Given the description of an element on the screen output the (x, y) to click on. 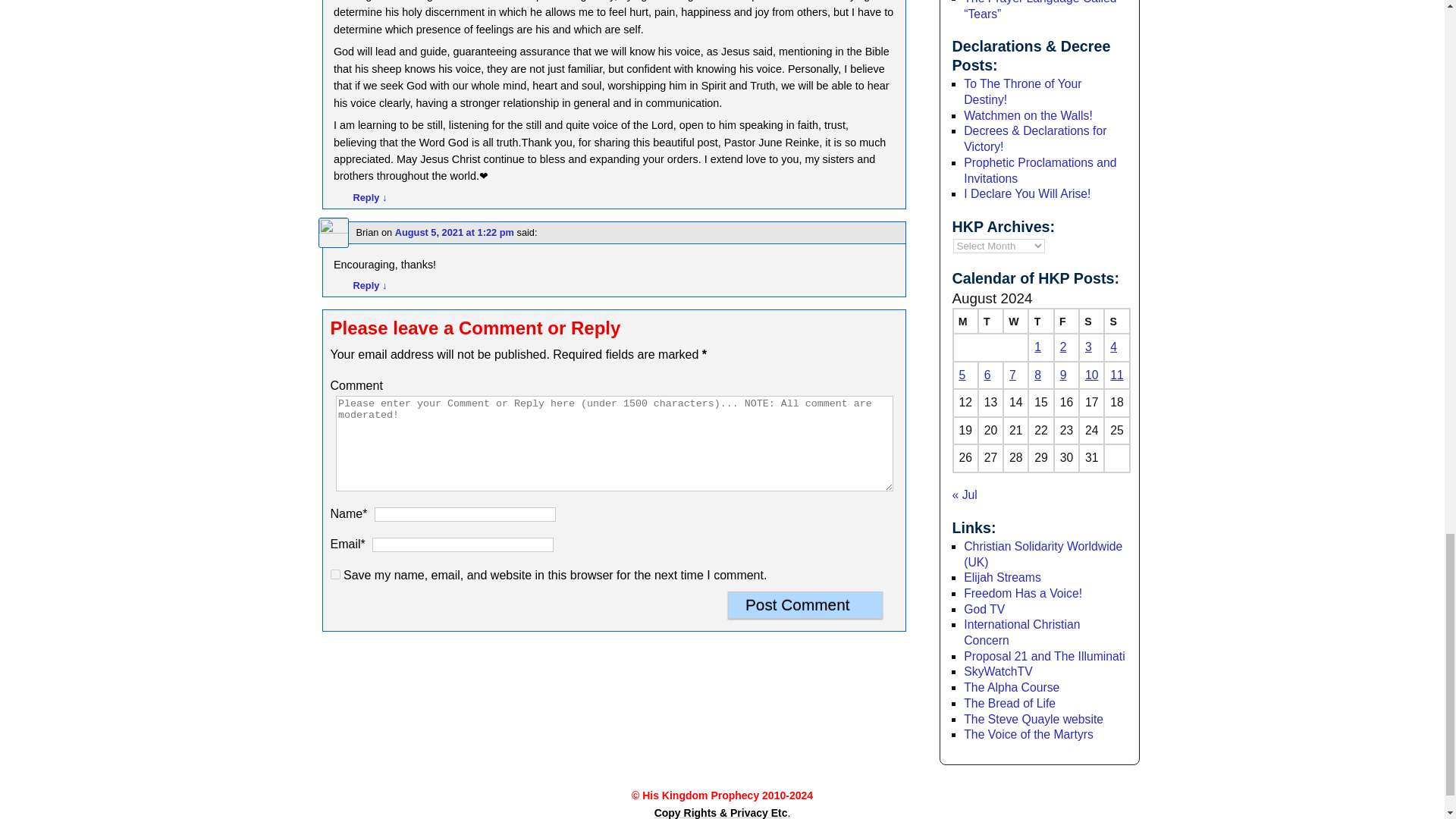
Thursday (1039, 320)
Post Comment (805, 605)
yes (335, 574)
Tuesday (990, 320)
Saturday (1090, 320)
Wednesday (1015, 320)
Monday (964, 320)
Friday (1066, 320)
